Given the description of an element on the screen output the (x, y) to click on. 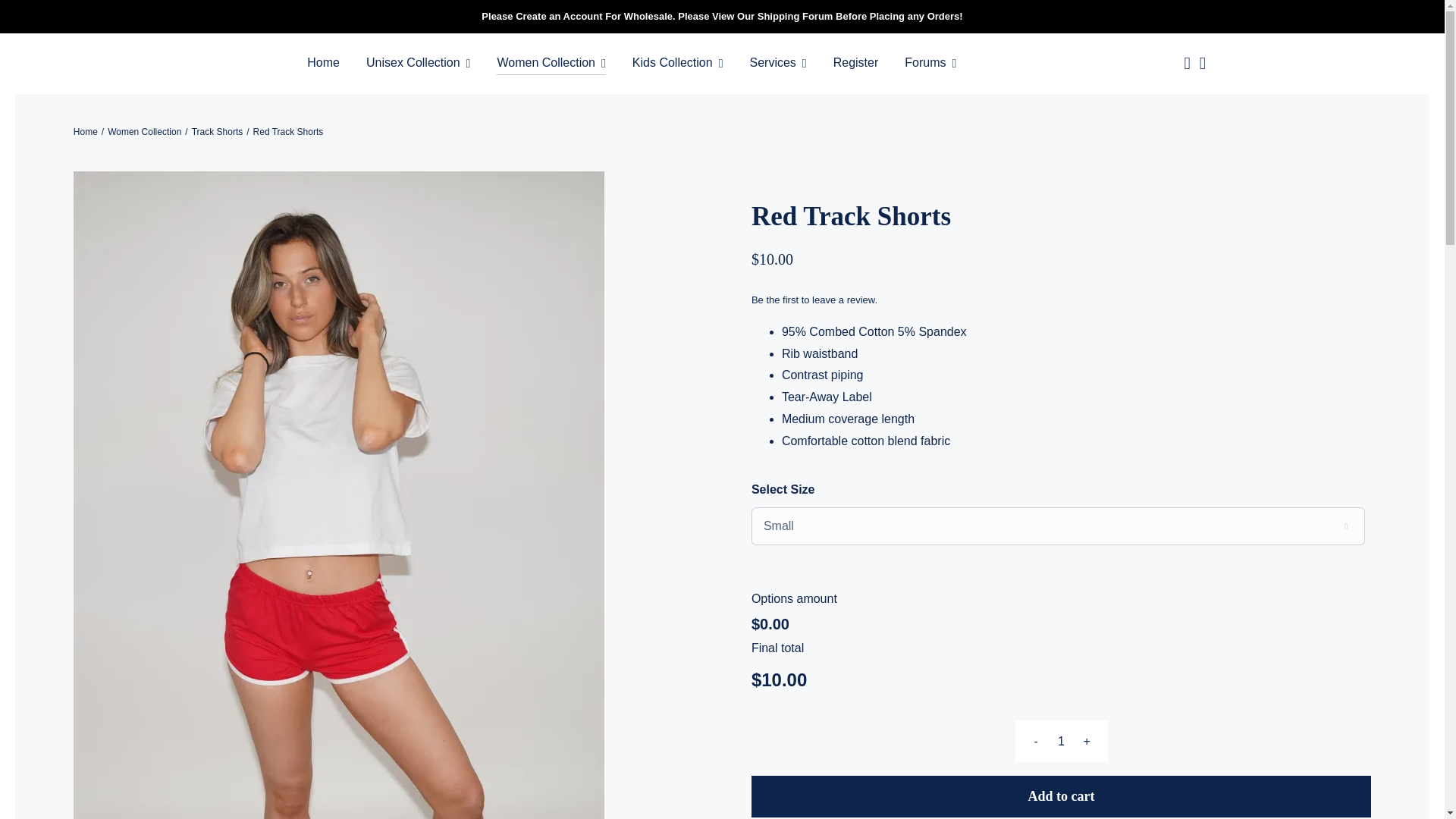
Home (323, 63)
Register (855, 63)
Forums (930, 63)
Unisex Collection (418, 63)
- (1035, 741)
Women Collection (550, 63)
Services (777, 63)
Kids Collection (677, 63)
